Given the description of an element on the screen output the (x, y) to click on. 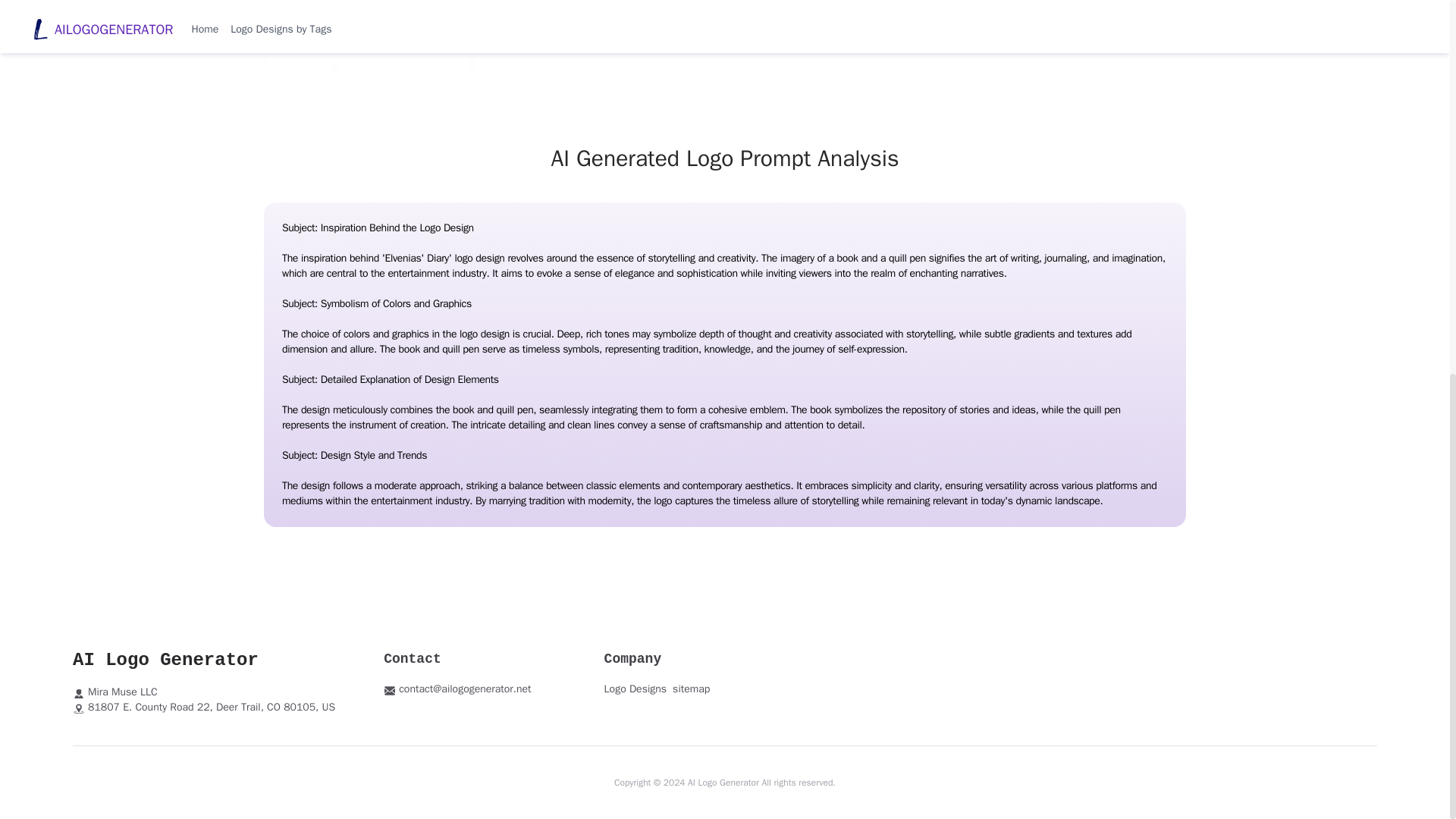
sitemap (691, 688)
Logo Designs (635, 688)
